Given the description of an element on the screen output the (x, y) to click on. 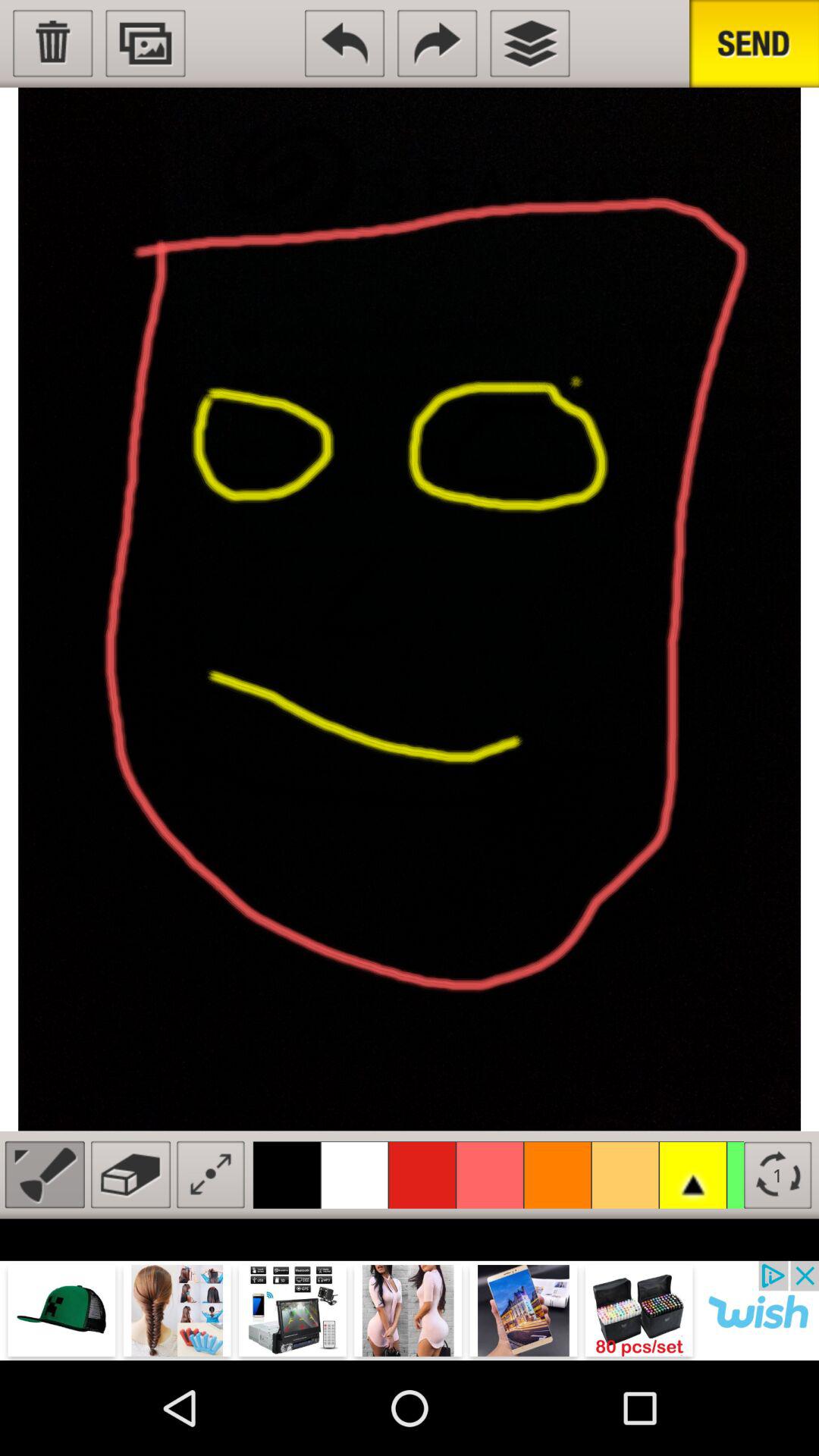
click to select (52, 43)
